Given the description of an element on the screen output the (x, y) to click on. 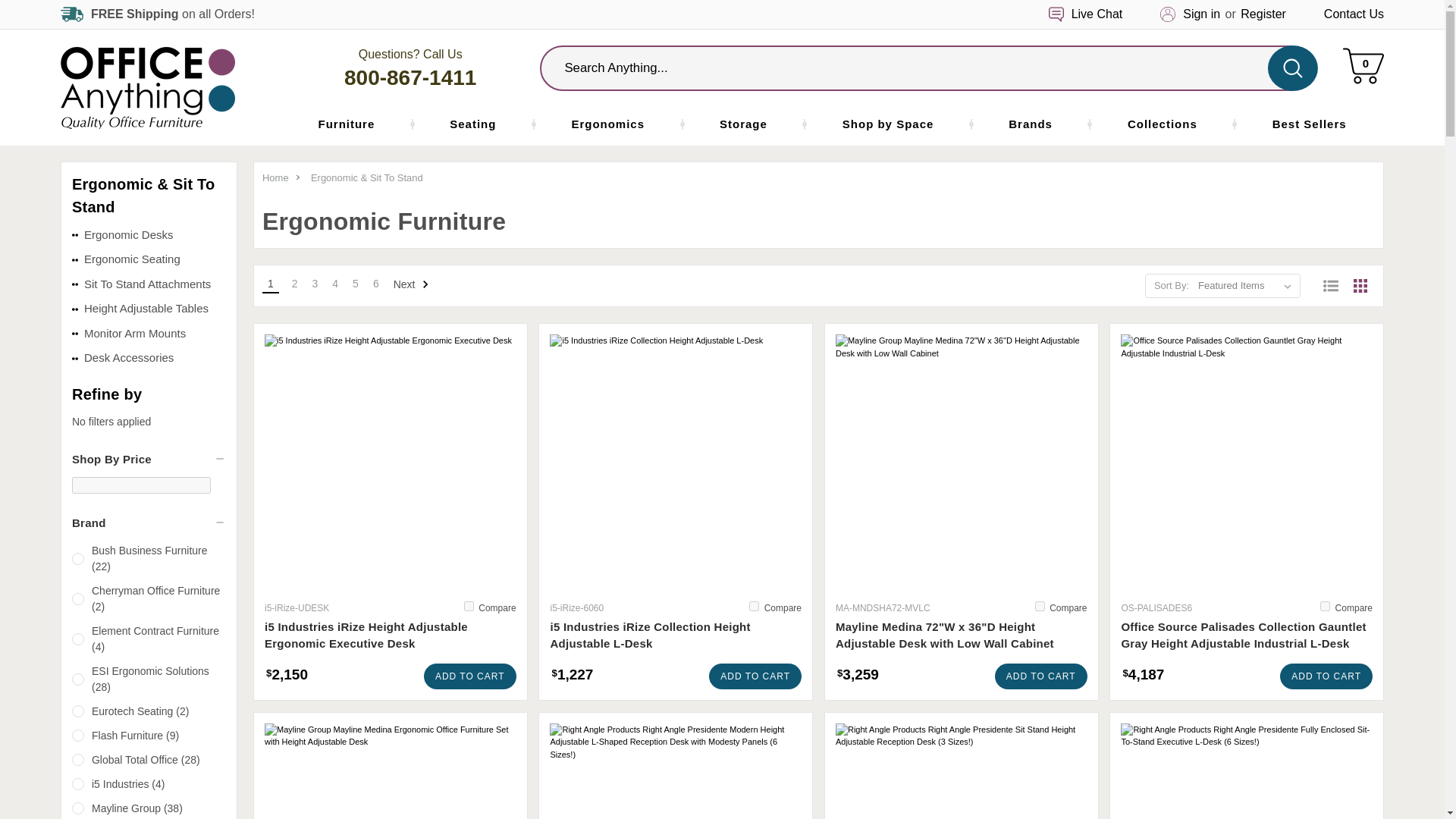
800-867-1411 (409, 77)
Office Anything (147, 86)
Sign in (1201, 14)
Register (1262, 14)
Furniture (346, 123)
10115 (1325, 605)
Contact Us (1353, 14)
10520 (469, 605)
Live Chat (1096, 14)
10897 (1040, 605)
